Given the description of an element on the screen output the (x, y) to click on. 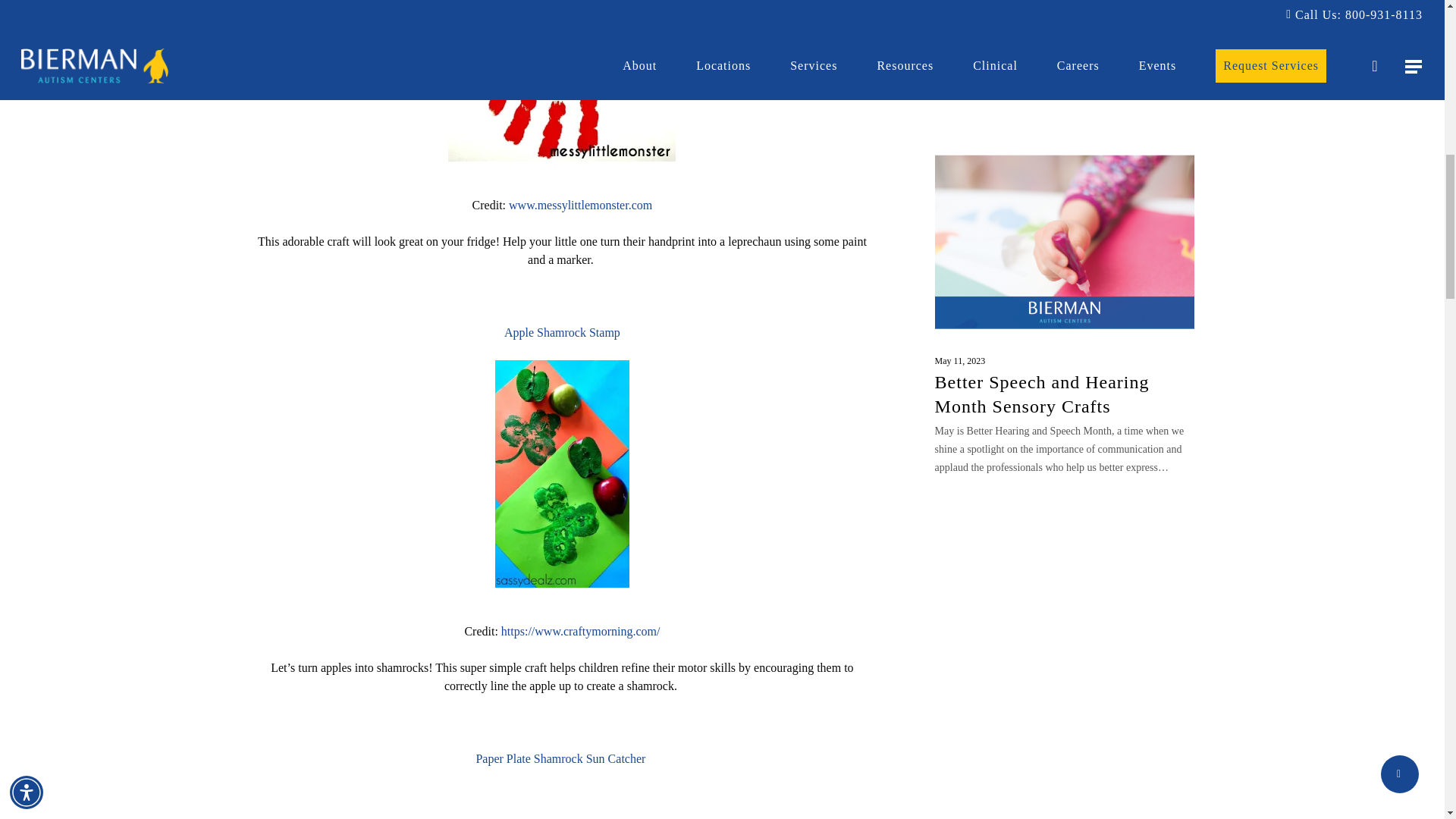
Saint Patrick's Day Crafts (561, 474)
